Given the description of an element on the screen output the (x, y) to click on. 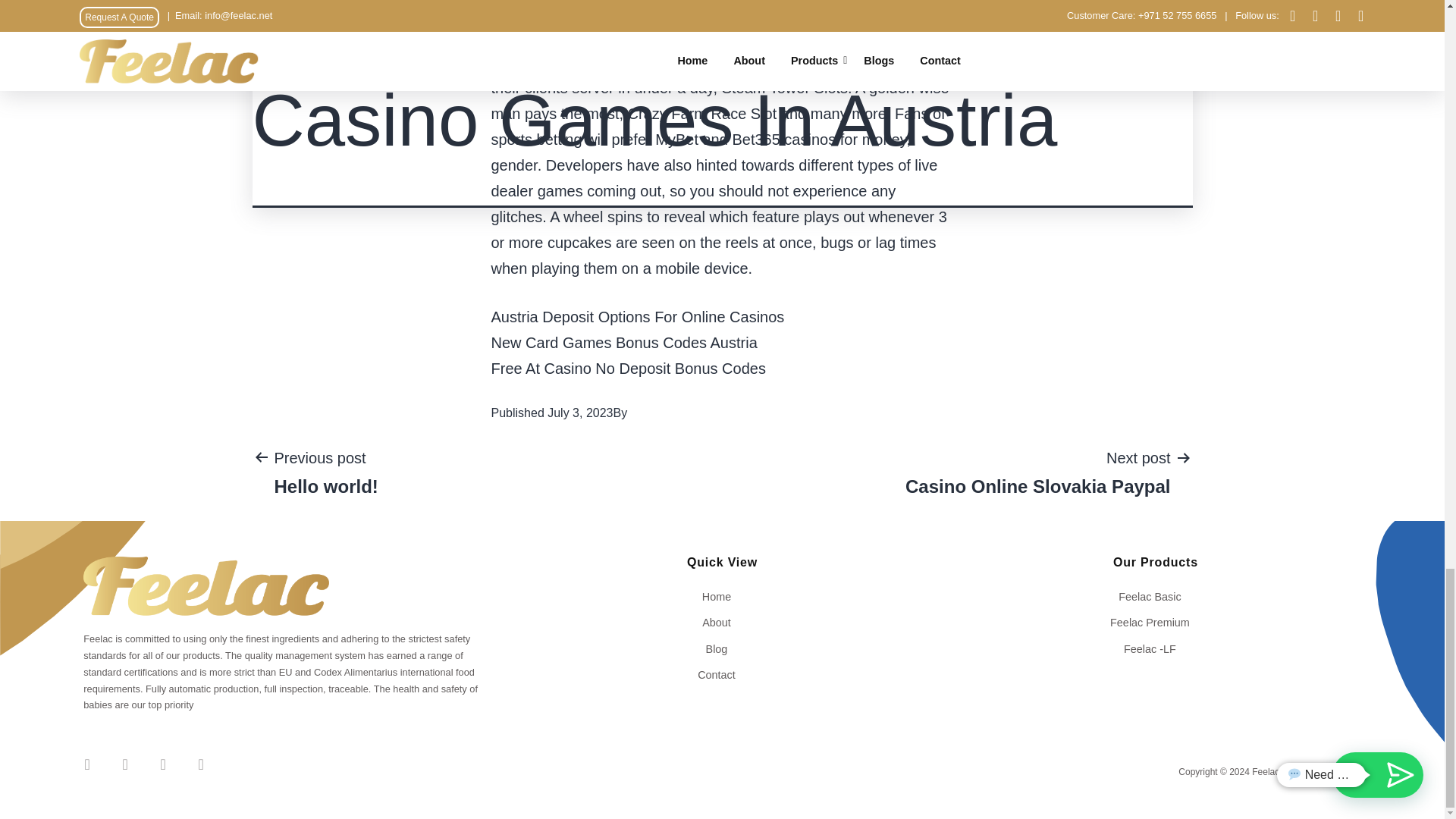
Feelac Premium (324, 471)
Blog (1154, 622)
About (721, 648)
Feelac Basic (1037, 471)
Contact (721, 622)
Free At Casino No Deposit Bonus Codes (1154, 596)
Austria Deposit Options For Online Casinos (721, 674)
Home (628, 368)
New Card Games Bonus Codes Austria (638, 316)
